Given the description of an element on the screen output the (x, y) to click on. 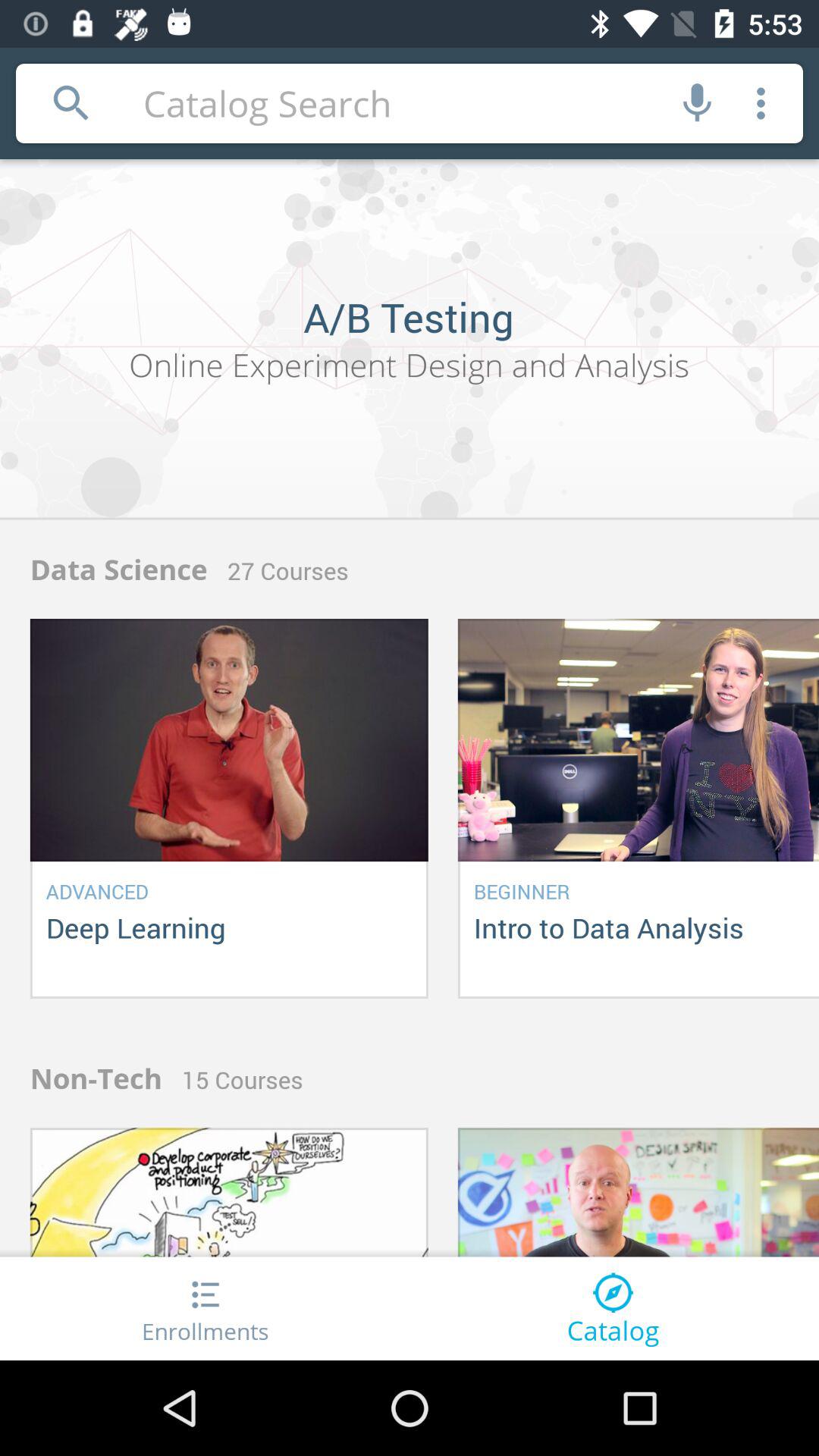
click the icon to the right of catalog search (697, 103)
